Given the description of an element on the screen output the (x, y) to click on. 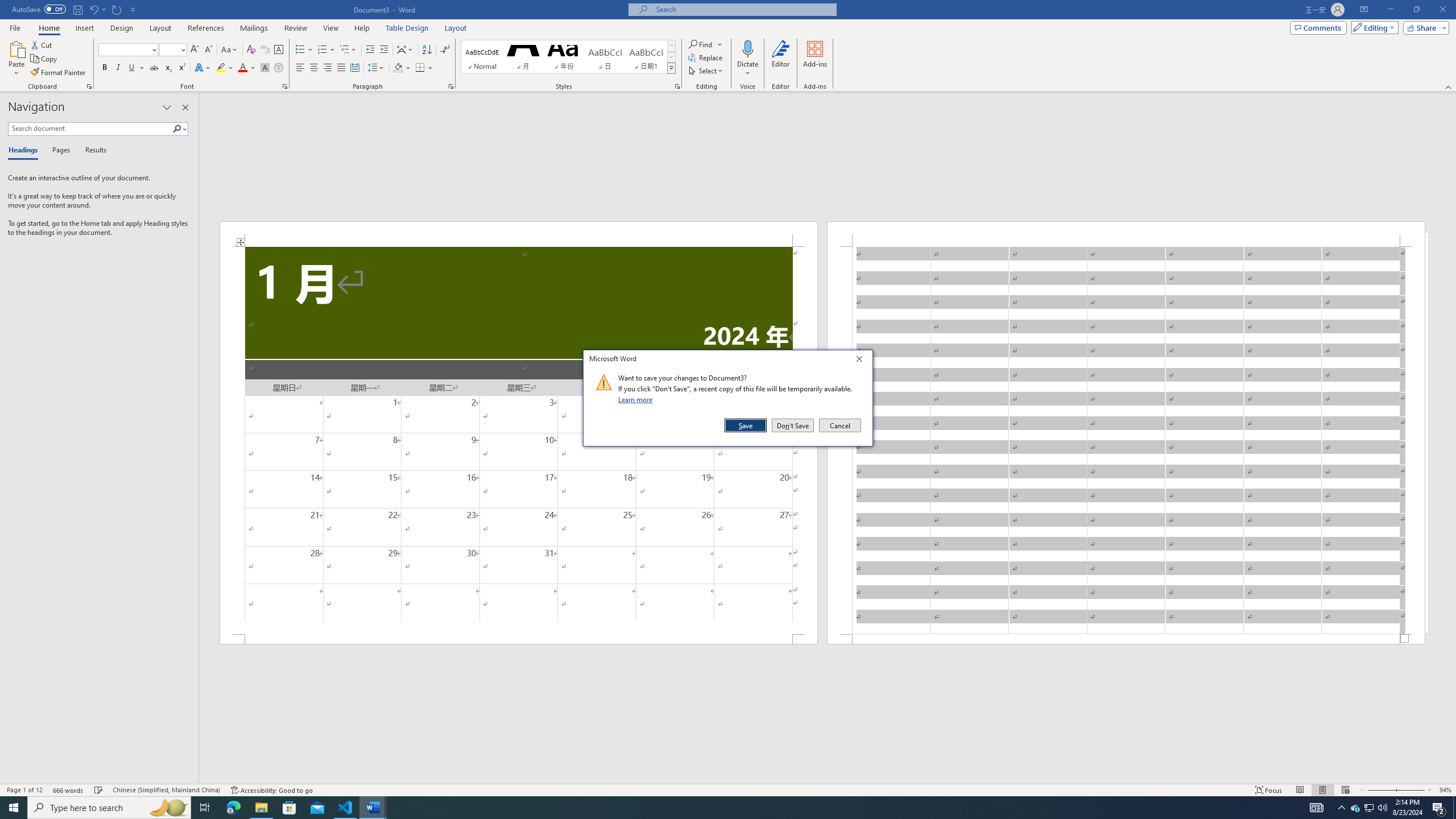
Justify (340, 67)
